Given the description of an element on the screen output the (x, y) to click on. 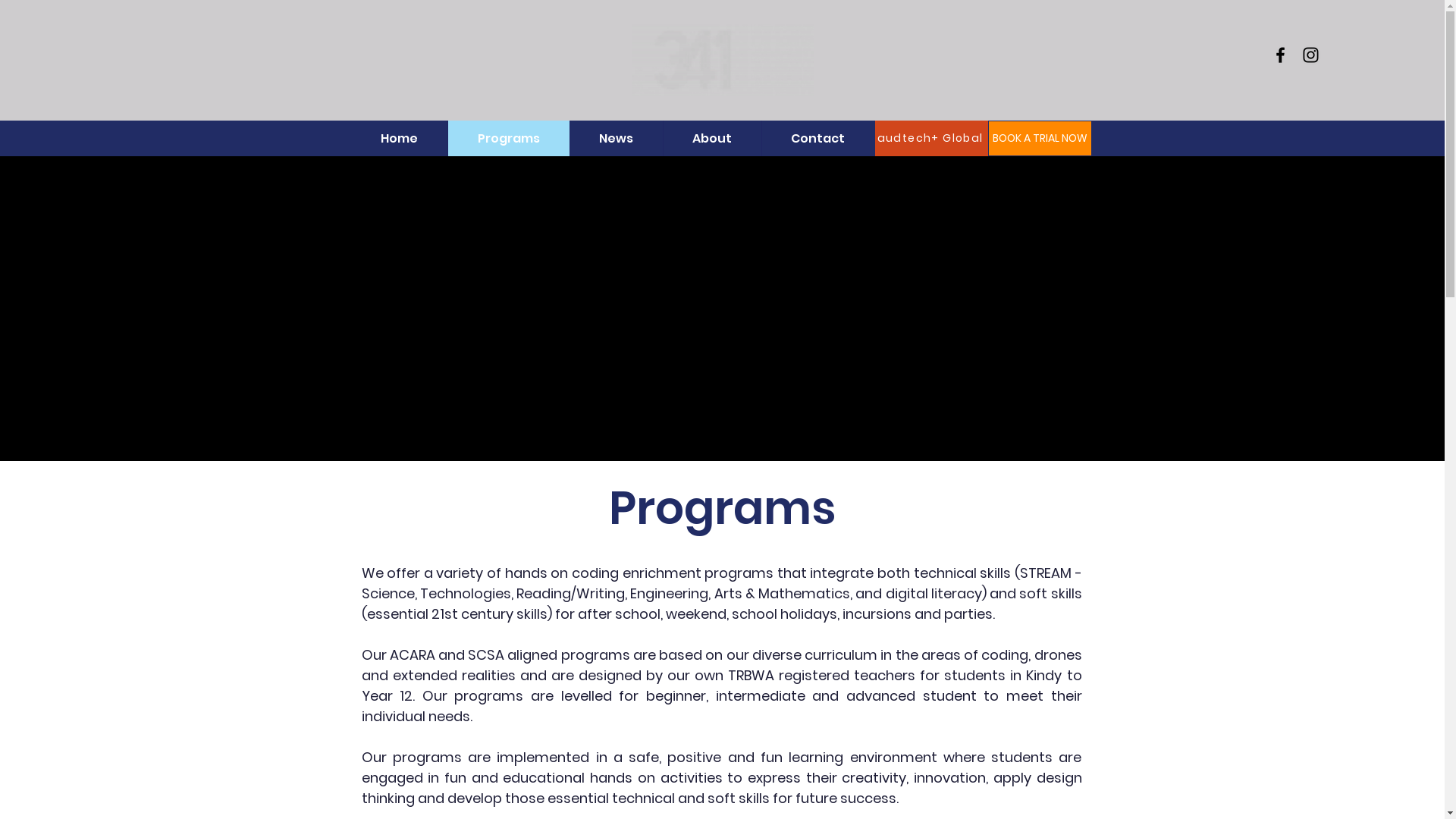
About Element type: text (711, 138)
Contact Element type: text (817, 138)
Home Element type: text (398, 138)
audtech+ Global Element type: text (931, 138)
BOOK A TRIAL NOW Element type: text (1039, 138)
News Element type: text (615, 138)
Programs Element type: text (508, 138)
